Given the description of an element on the screen output the (x, y) to click on. 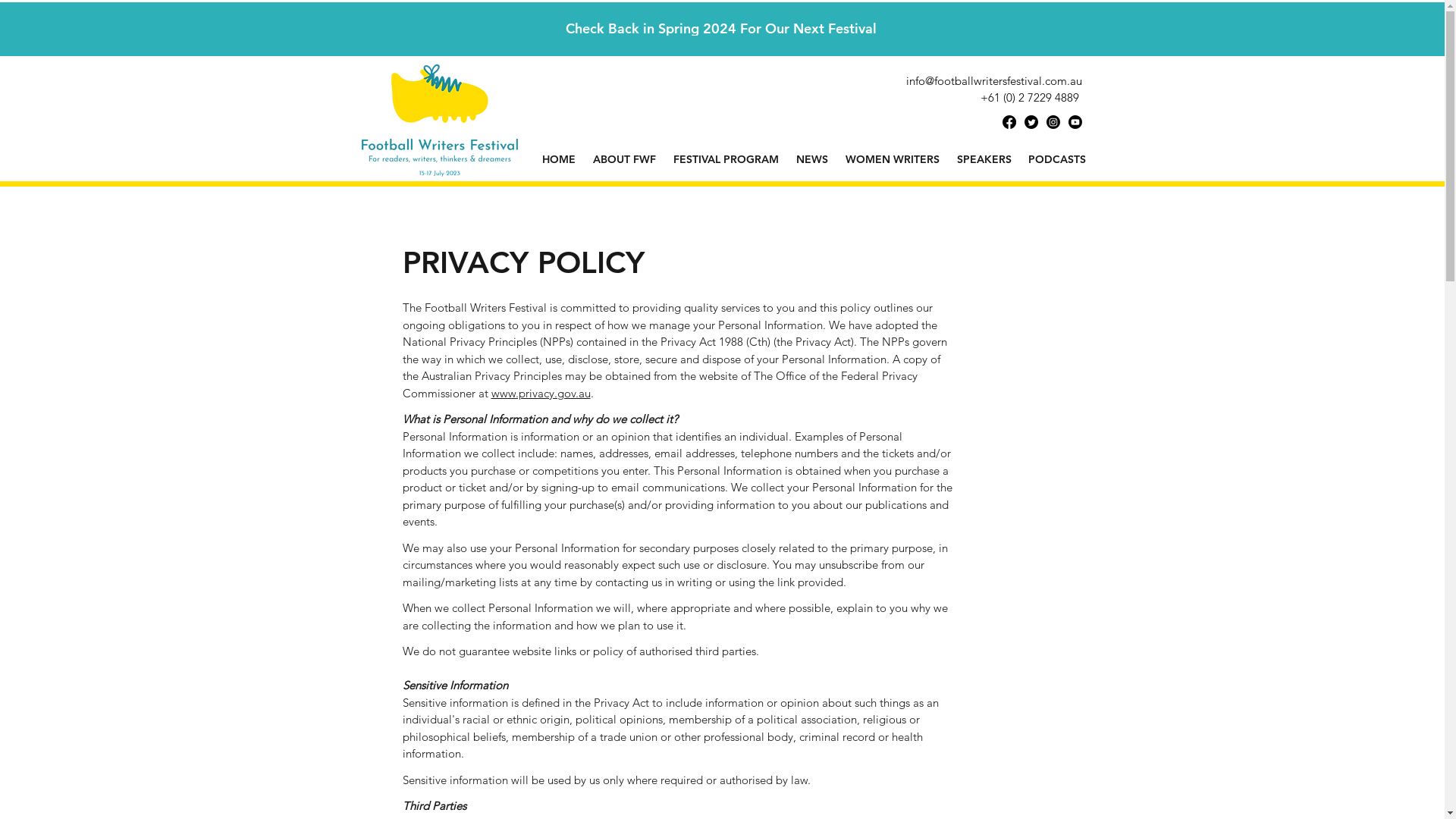
NEWS Element type: text (811, 159)
FESTIVAL PROGRAM Element type: text (725, 159)
HOME Element type: text (558, 159)
ABOUT FWF Element type: text (623, 159)
www.privacy.gov.au Element type: text (540, 392)
info@footballwritersfestival.com.au Element type: text (993, 80)
SPEAKERS Element type: text (983, 159)
WOMEN WRITERS Element type: text (892, 159)
PODCASTS Element type: text (1056, 159)
